Given the description of an element on the screen output the (x, y) to click on. 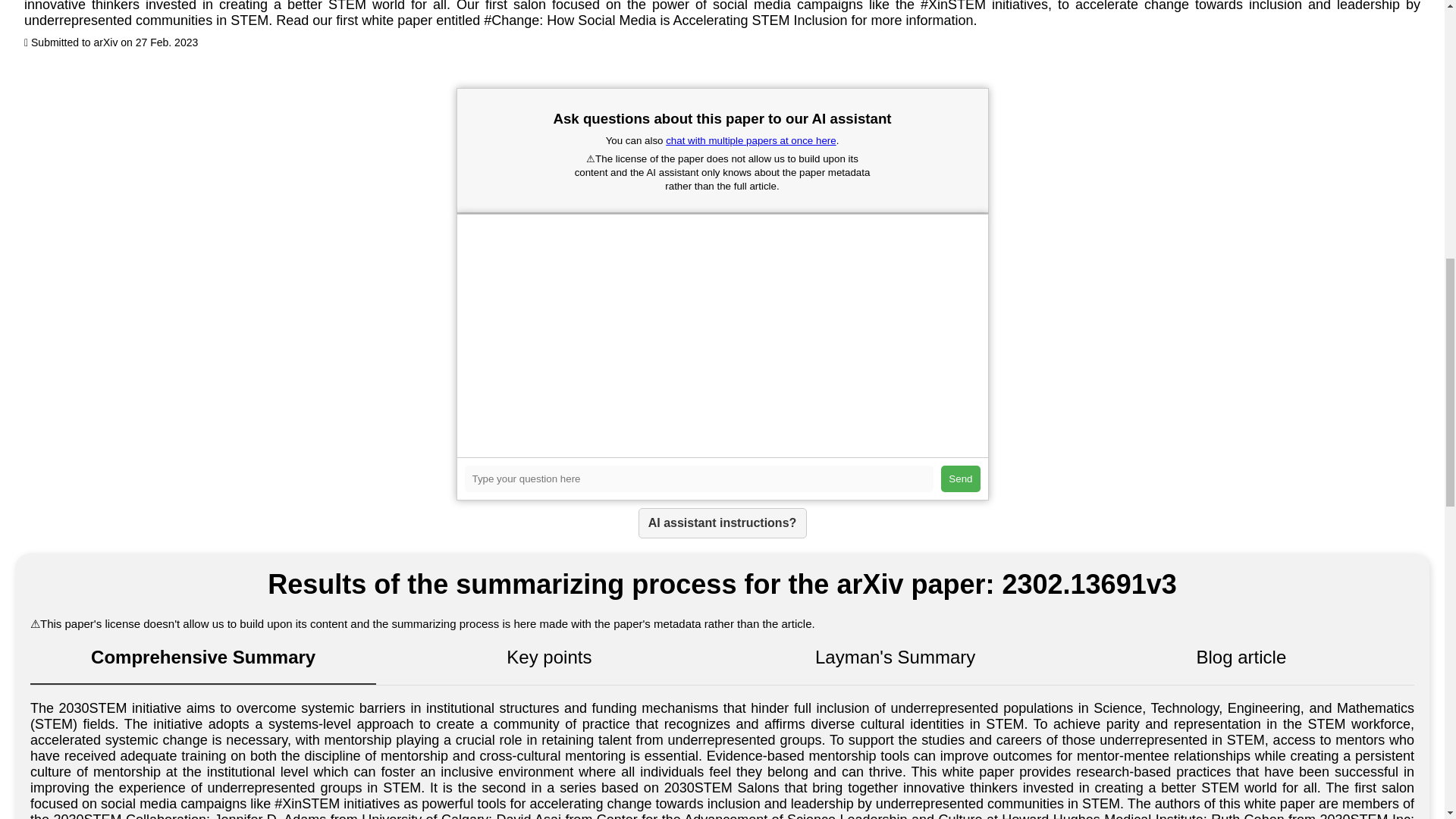
Send (959, 479)
AI assistant instructions? (722, 522)
chat with multiple papers at once here (750, 140)
